Given the description of an element on the screen output the (x, y) to click on. 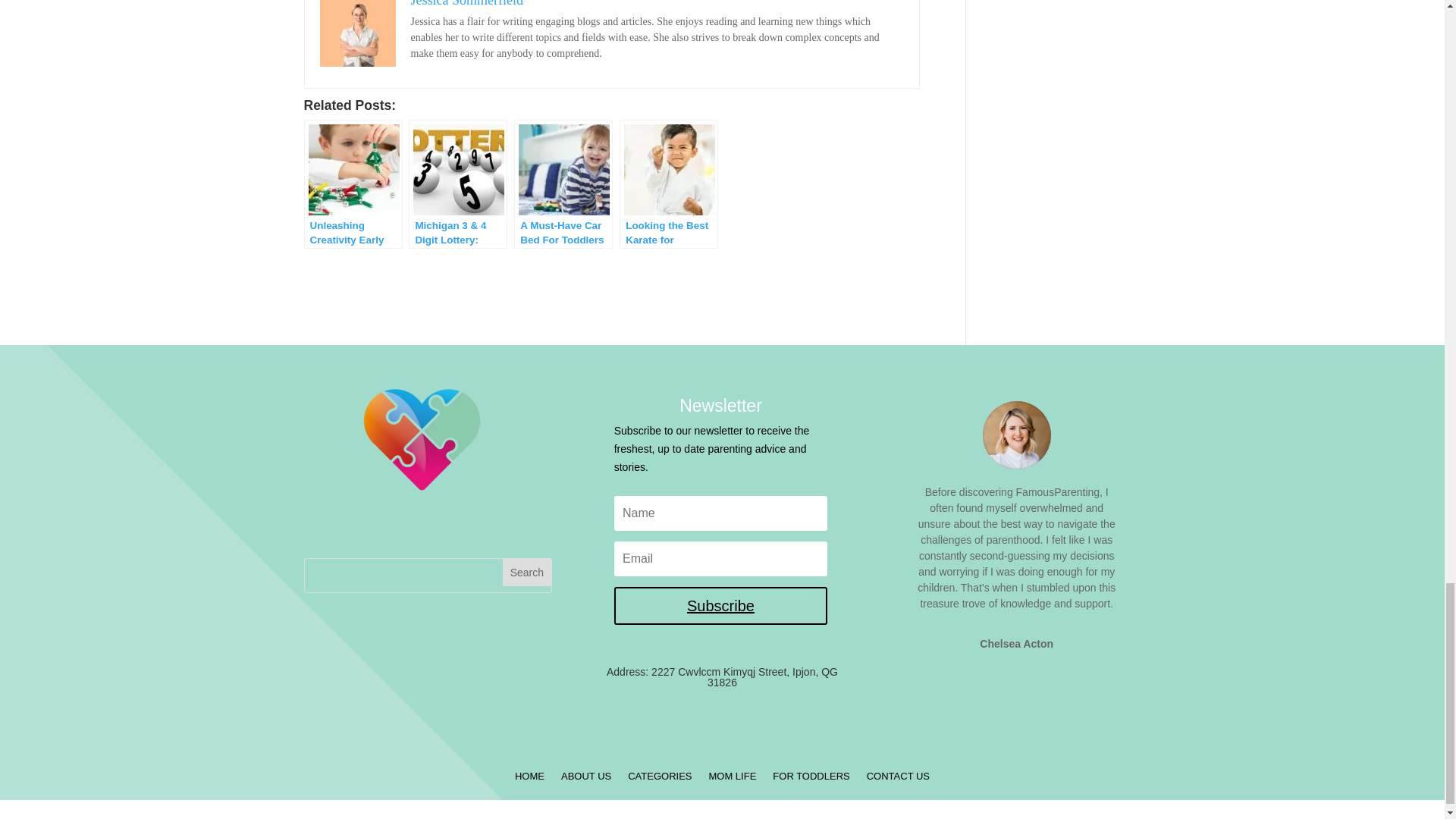
Jessica Sommerfield (466, 3)
HOME (529, 779)
A Must-Have Car Bed For Toddlers (562, 183)
Looking the Best Karate for Toddlers Near Me (668, 183)
Looking the Best Karate for Toddlers Near Me (668, 183)
Search (526, 572)
Search (526, 572)
Subscribe (721, 605)
A Must-Have Car Bed For Toddlers (562, 183)
Search (526, 572)
